Given the description of an element on the screen output the (x, y) to click on. 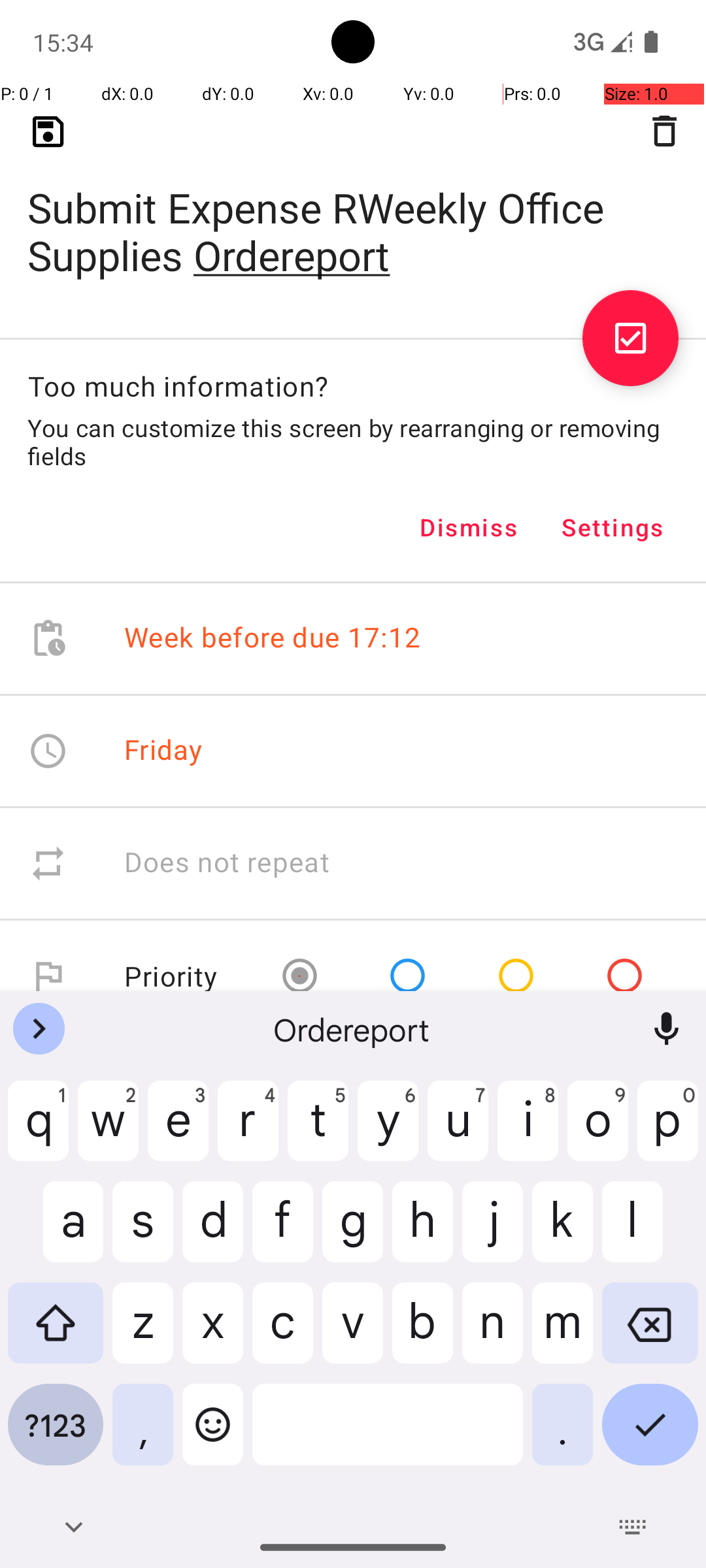
Submit Expense RWeekly Office Supplies Ordereport Element type: android.widget.EditText (353, 210)
Week before due 17:12 Element type: android.widget.TextView (272, 638)
Ordereport Element type: android.widget.FrameLayout (352, 1028)
